Given the description of an element on the screen output the (x, y) to click on. 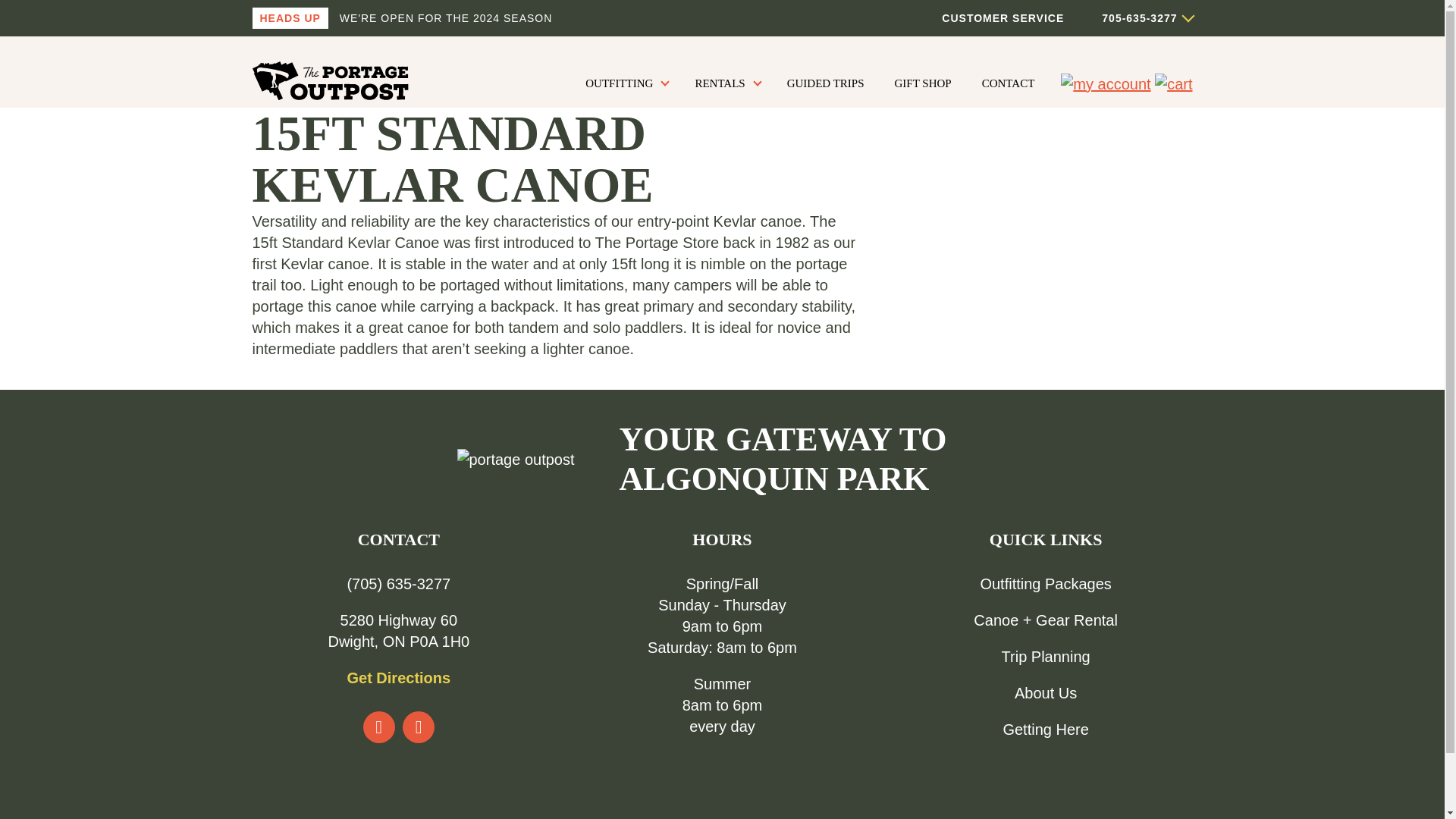
OUTFITTING (624, 82)
Get Directions (397, 677)
Outfitting Packages (1044, 583)
Getting Here (1045, 729)
CUSTOMER SERVICE (1003, 18)
GIFT SHOP (923, 82)
705-635-3277 (1127, 18)
GUIDED TRIPS (825, 82)
CONTACT (1008, 82)
RENTALS (725, 82)
